Given the description of an element on the screen output the (x, y) to click on. 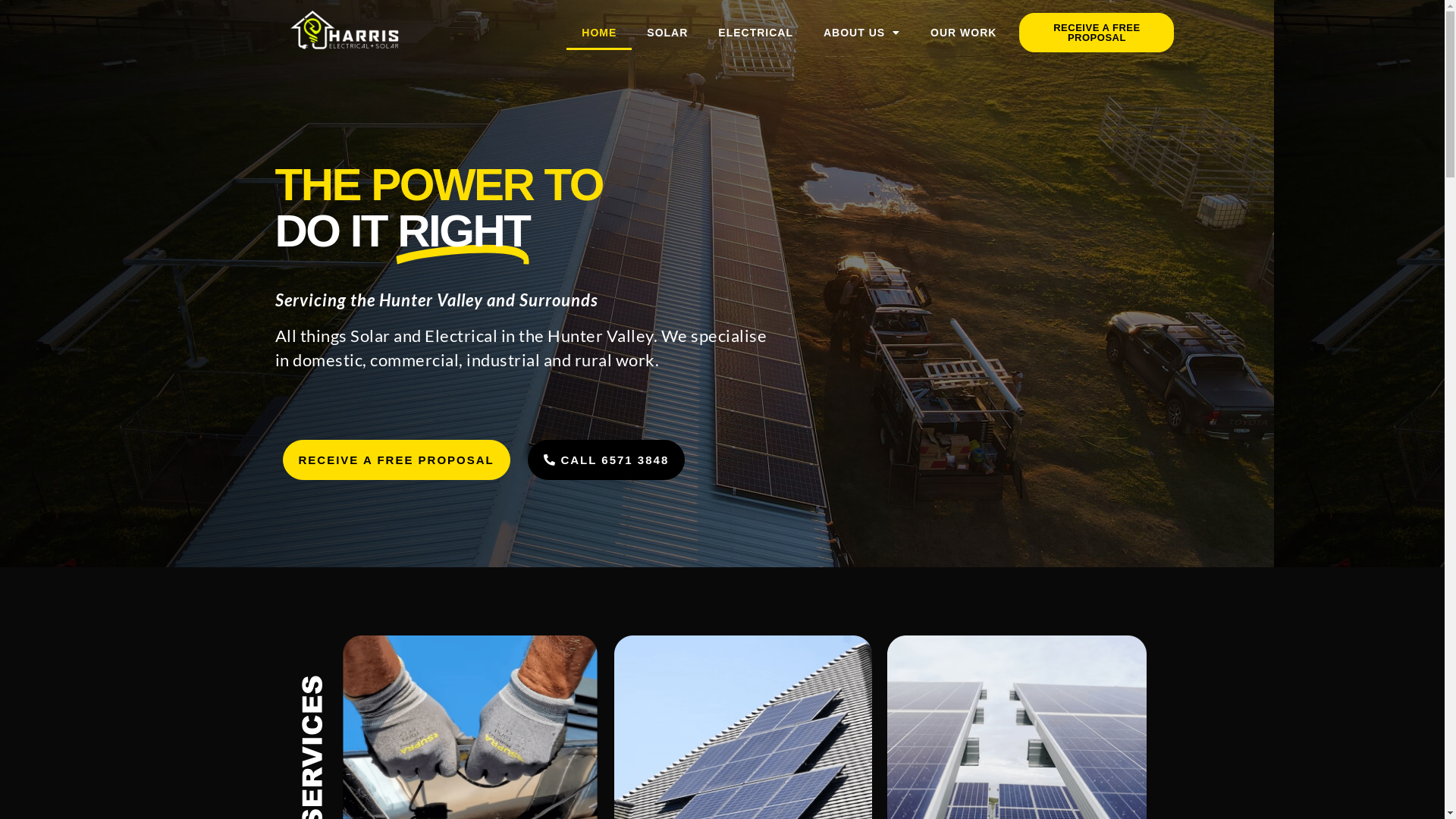
ELECTRICAL Element type: text (755, 32)
RECEIVE A FREE PROPOSAL Element type: text (395, 459)
CALL 6571 3848 Element type: text (605, 459)
OUR WORK Element type: text (963, 32)
SOLAR Element type: text (666, 32)
HOME Element type: text (598, 32)
ABOUT US Element type: text (861, 32)
RECEIVE A FREE PROPOSAL Element type: text (1096, 32)
